Given the description of an element on the screen output the (x, y) to click on. 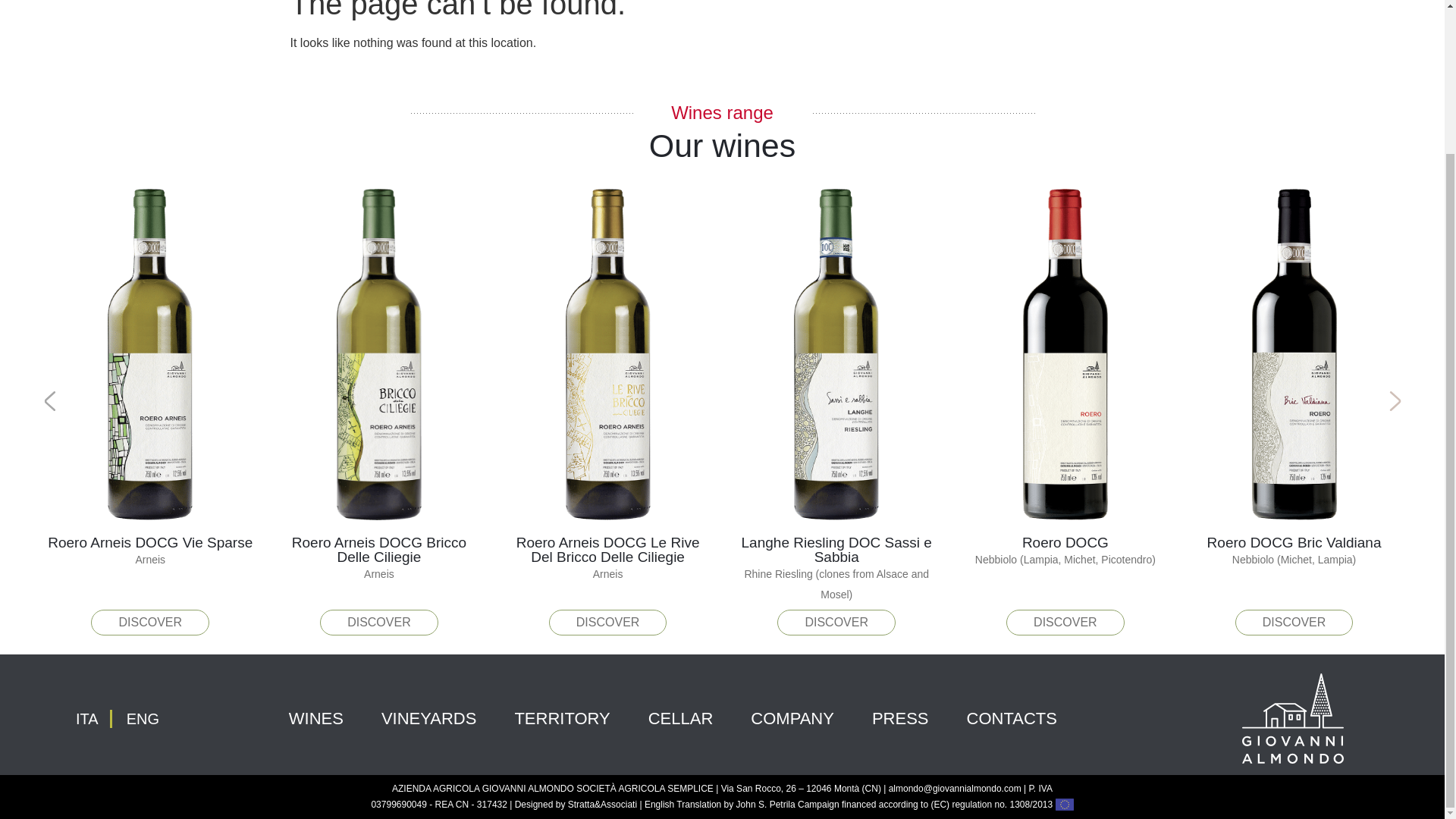
DISCOVER (379, 622)
DISCOVER (836, 622)
DISCOVER (607, 622)
DISCOVER (149, 622)
